Given the description of an element on the screen output the (x, y) to click on. 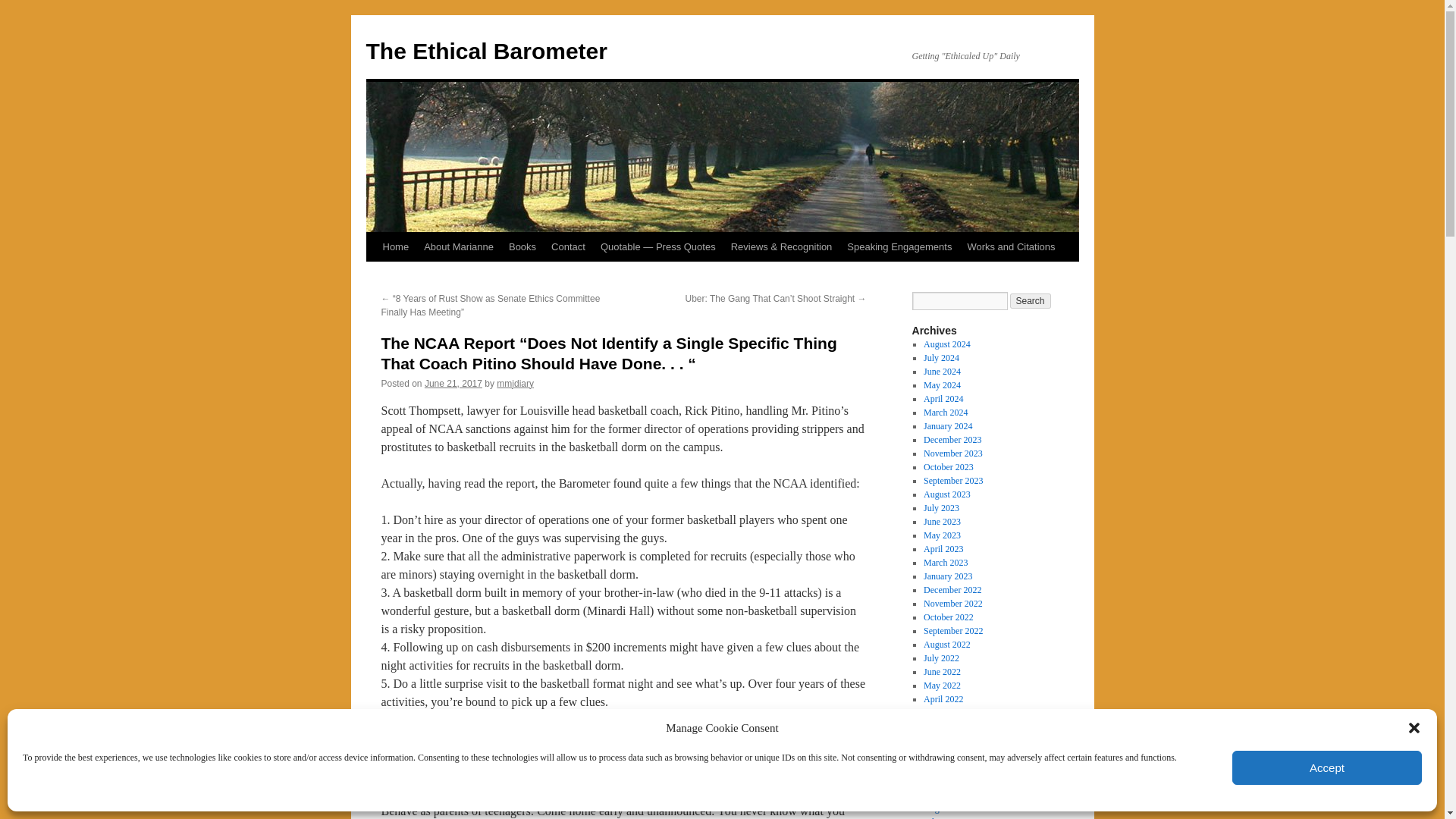
mmjdiary (515, 383)
Speaking Engagements (899, 246)
August 2024 (947, 344)
The Ethical Barometer (486, 50)
June 2024 (941, 371)
7:27 AM (453, 383)
June 21, 2017 (453, 383)
View all posts by mmjdiary (515, 383)
Works and Citations (1010, 246)
Contact (567, 246)
